Given the description of an element on the screen output the (x, y) to click on. 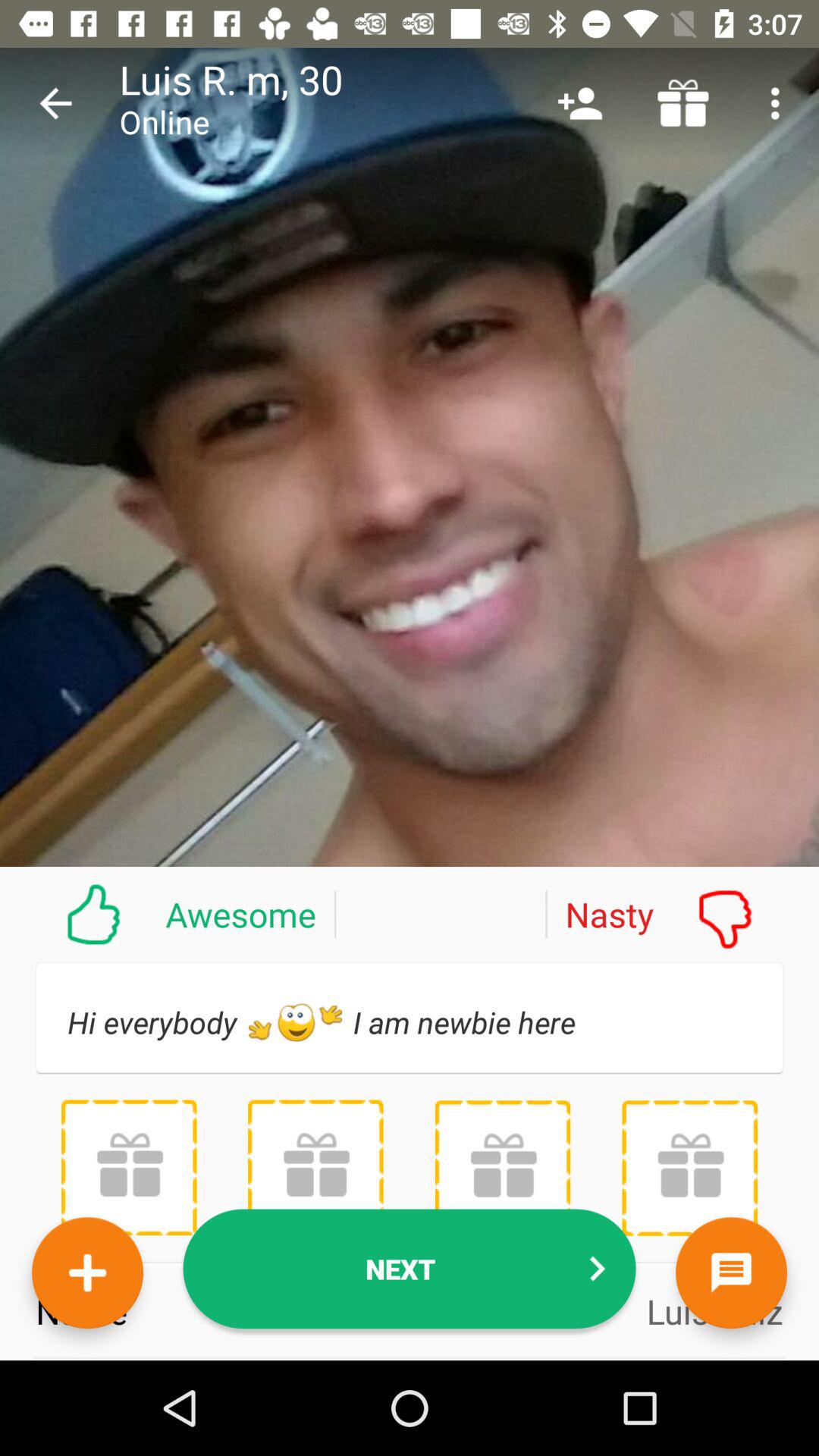
launch icon below the hi everybody h icon (502, 1167)
